Given the description of an element on the screen output the (x, y) to click on. 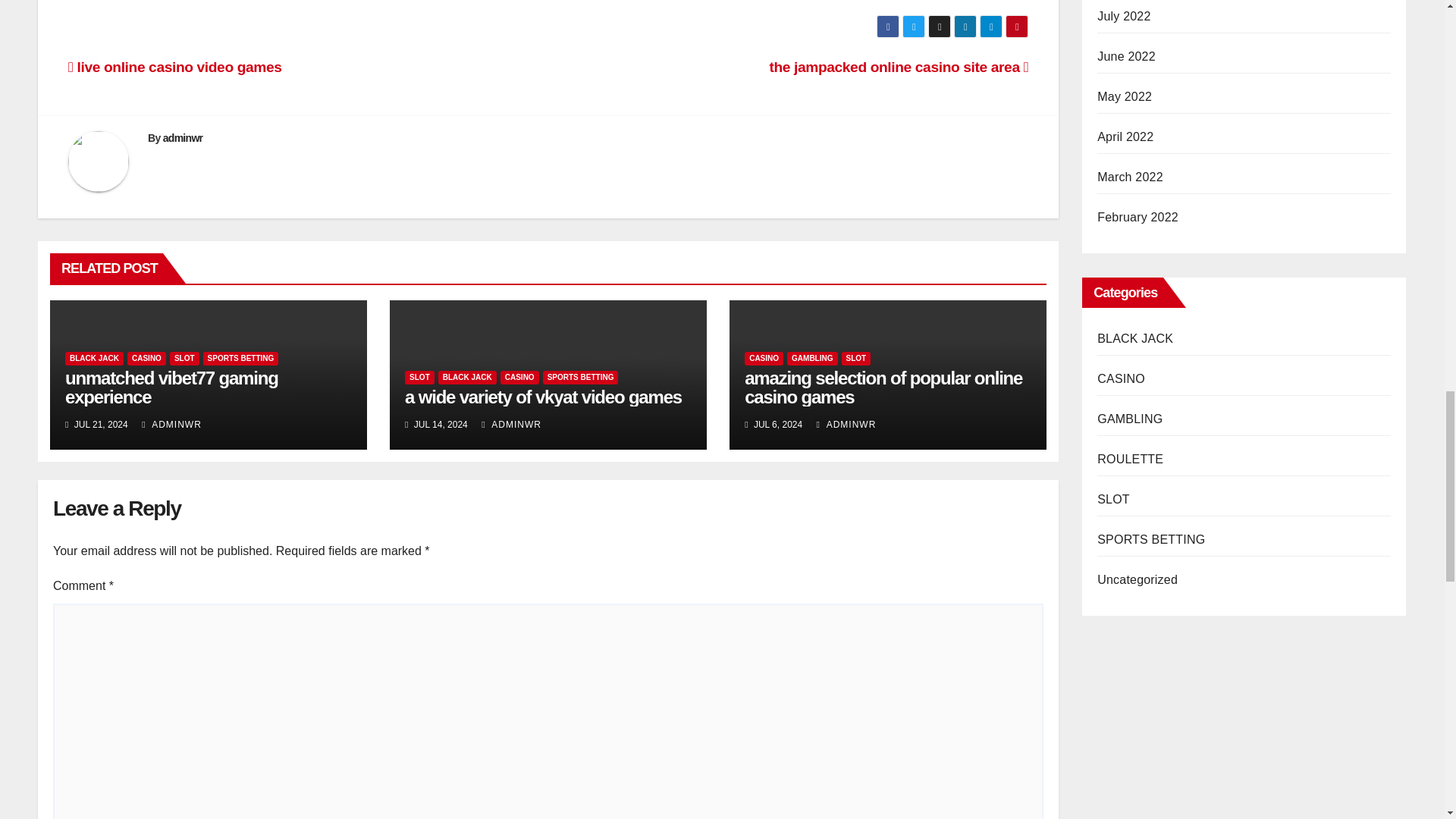
SLOT (184, 358)
Permalink to: a wide variety of vkyat video games (542, 396)
adminwr (183, 137)
BLACK JACK (94, 358)
live online casino video games (175, 66)
CASINO (146, 358)
the jampacked online casino site area (897, 66)
ADMINWR (171, 424)
unmatched vibet77 gaming experience (171, 387)
SPORTS BETTING (241, 358)
Permalink to: unmatched vibet77 gaming experience (171, 387)
SLOT (418, 377)
